Given the description of an element on the screen output the (x, y) to click on. 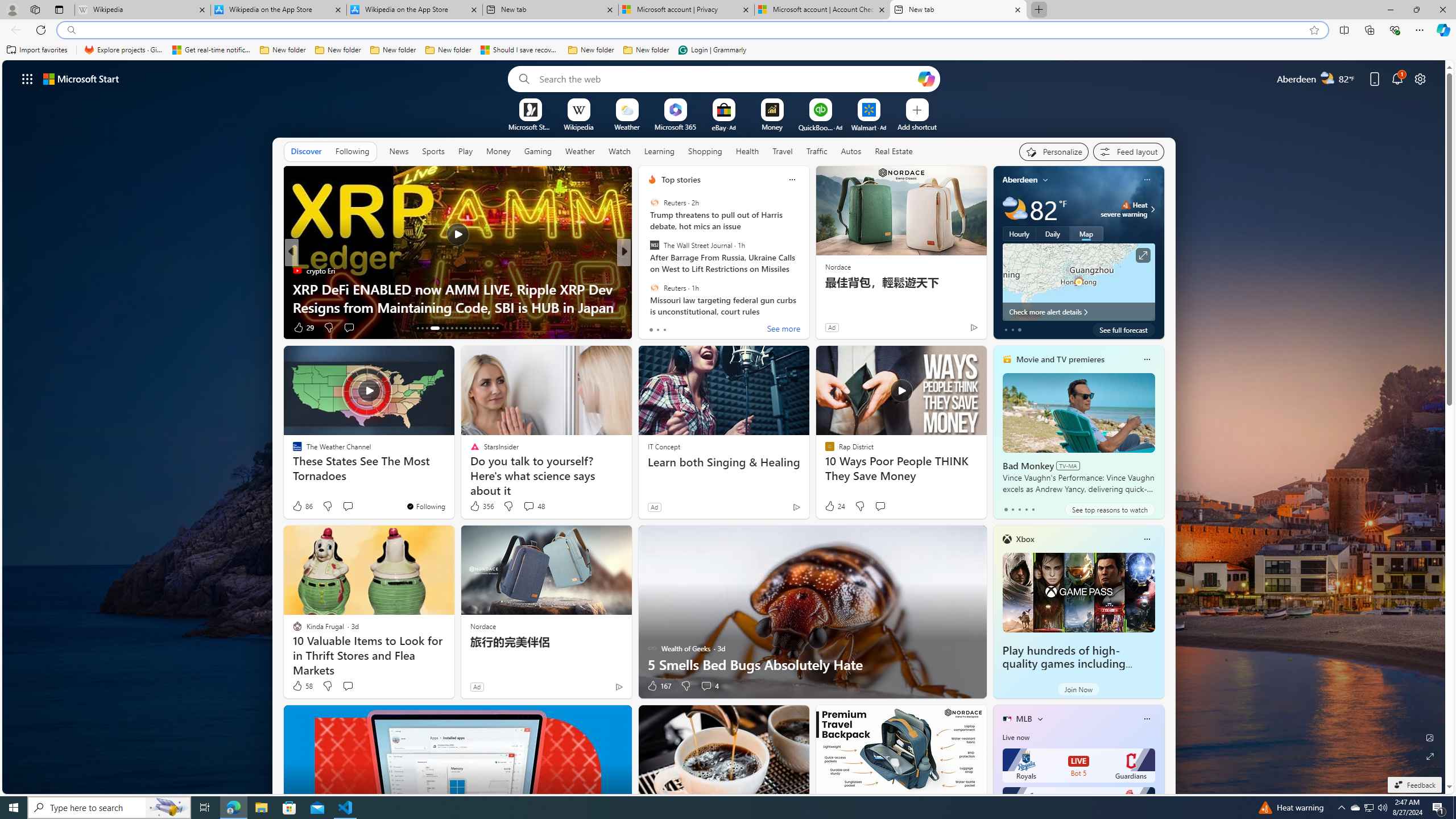
Start the conversation (347, 685)
Microsoft start (81, 78)
Microsoft Start Gaming (529, 126)
AutomationID: backgroundImagePicture (723, 426)
24 Like (834, 505)
News (398, 151)
You're following The Weather Channel (425, 505)
167 Like (658, 685)
View comments 3 Comment (349, 327)
AutomationID: tab-21 (460, 328)
Traffic (816, 151)
App bar (728, 29)
